Given the description of an element on the screen output the (x, y) to click on. 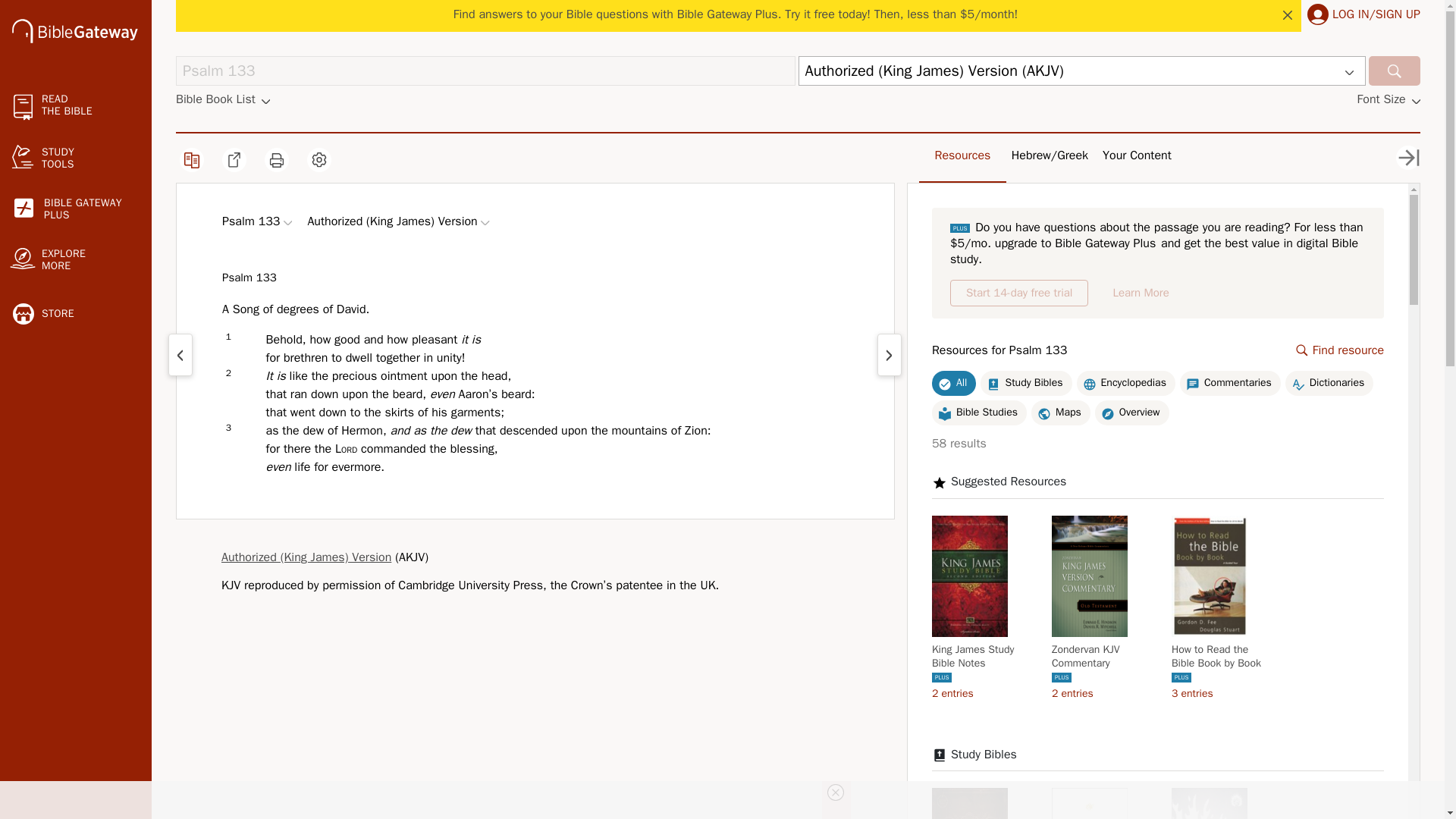
Resources (962, 155)
Close Sidebar (1408, 157)
Psalm 133 (485, 70)
close (1287, 14)
Open menu (287, 222)
Start 14-day free trial (1019, 293)
King James Study Bible Notes (980, 656)
Psalm 133 (485, 70)
Bible Book List (222, 99)
Bible Gateway logo (74, 32)
3rd party ad content (75, 209)
Bible Gateway logo (75, 814)
Learn More (74, 30)
Search (1140, 293)
